Given the description of an element on the screen output the (x, y) to click on. 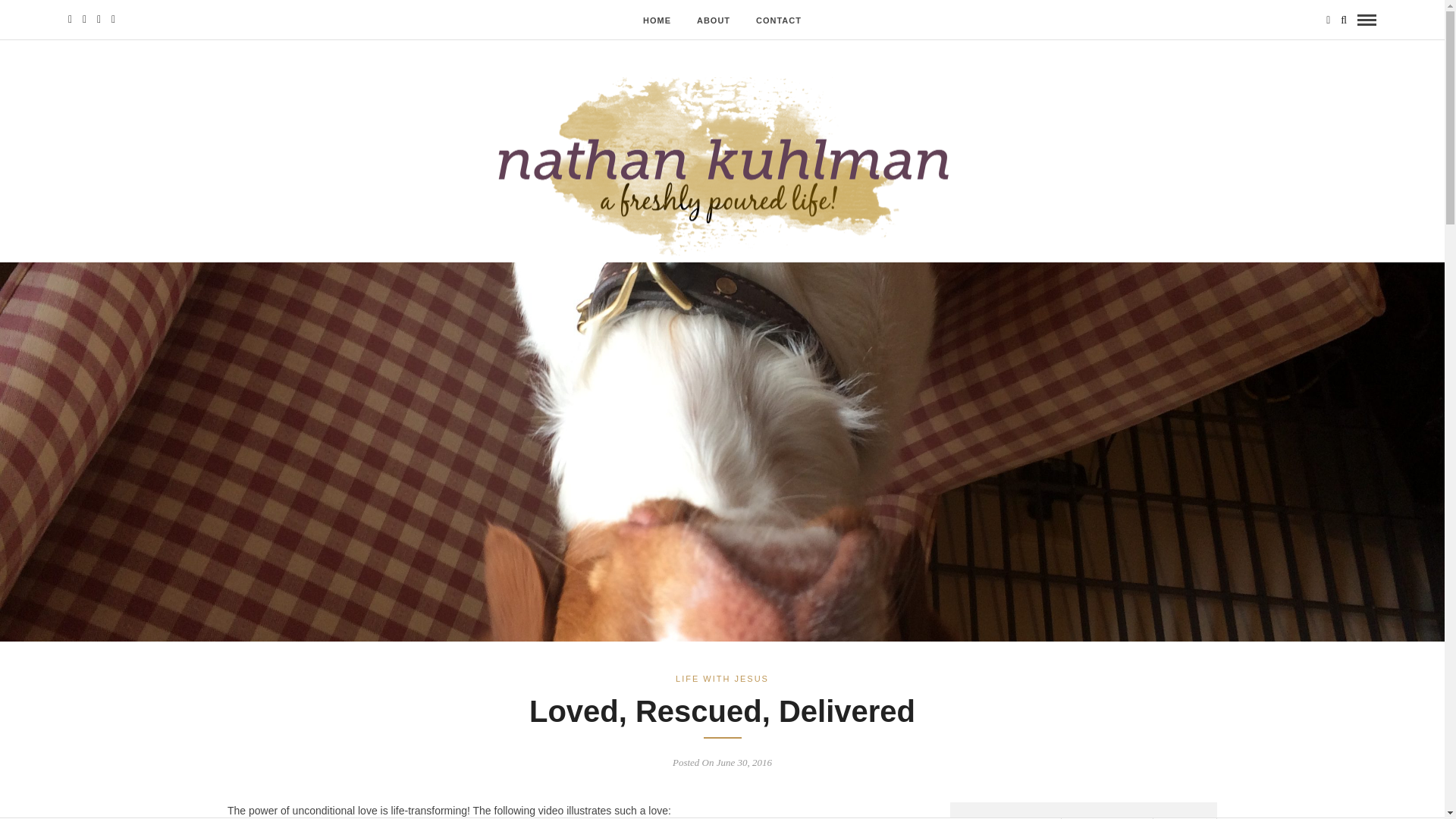
LIFE WITH JESUS (721, 678)
CONTACT (778, 19)
HOME (656, 19)
ABOUT (713, 19)
